Given the description of an element on the screen output the (x, y) to click on. 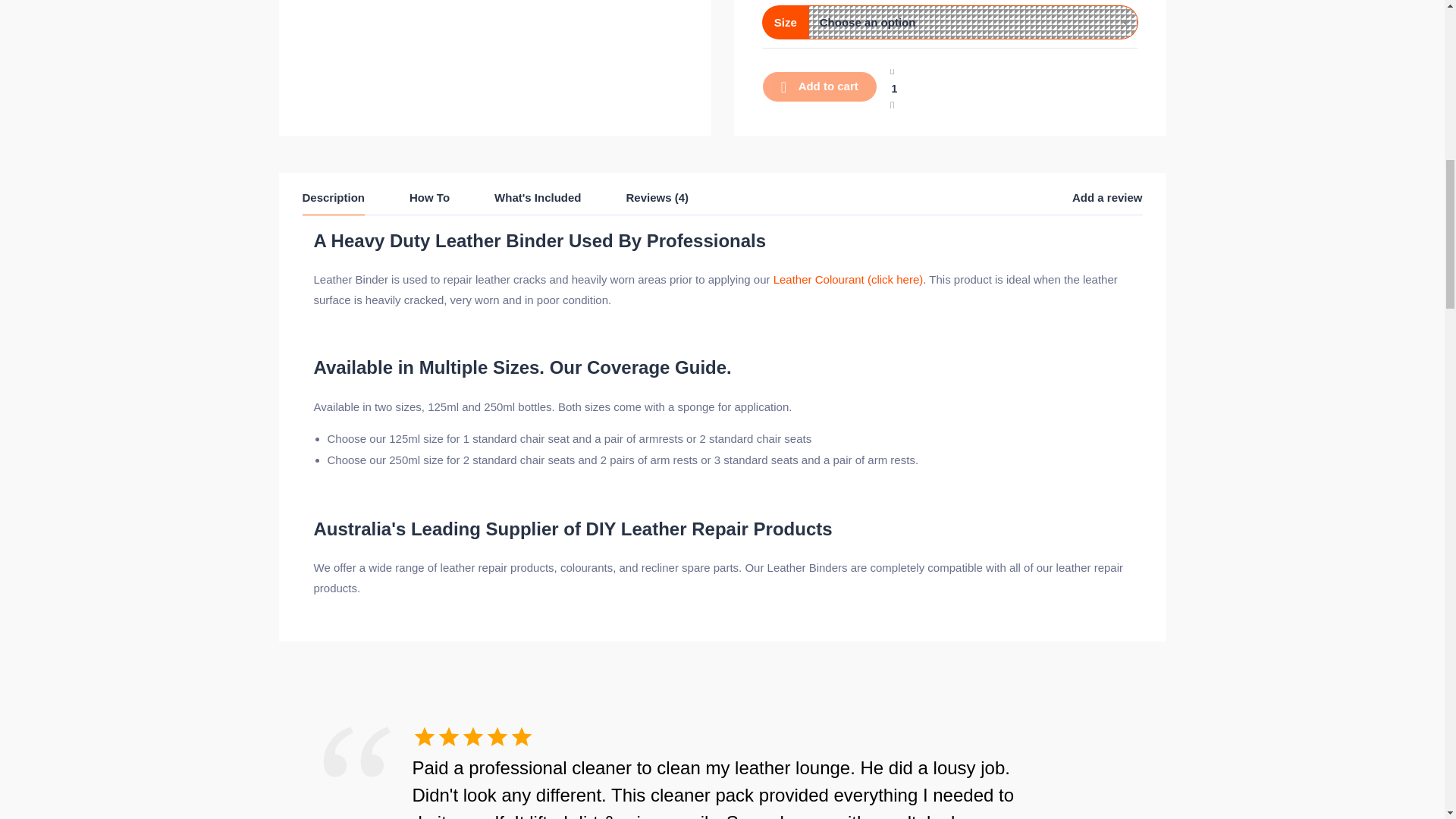
Description (333, 201)
Photo 29-4-19, 3 37 09 pm (494, 13)
Qty (893, 87)
1 (893, 87)
Choose an option (966, 21)
How To (429, 201)
What's Included (537, 201)
Add to cart (819, 86)
